Given the description of an element on the screen output the (x, y) to click on. 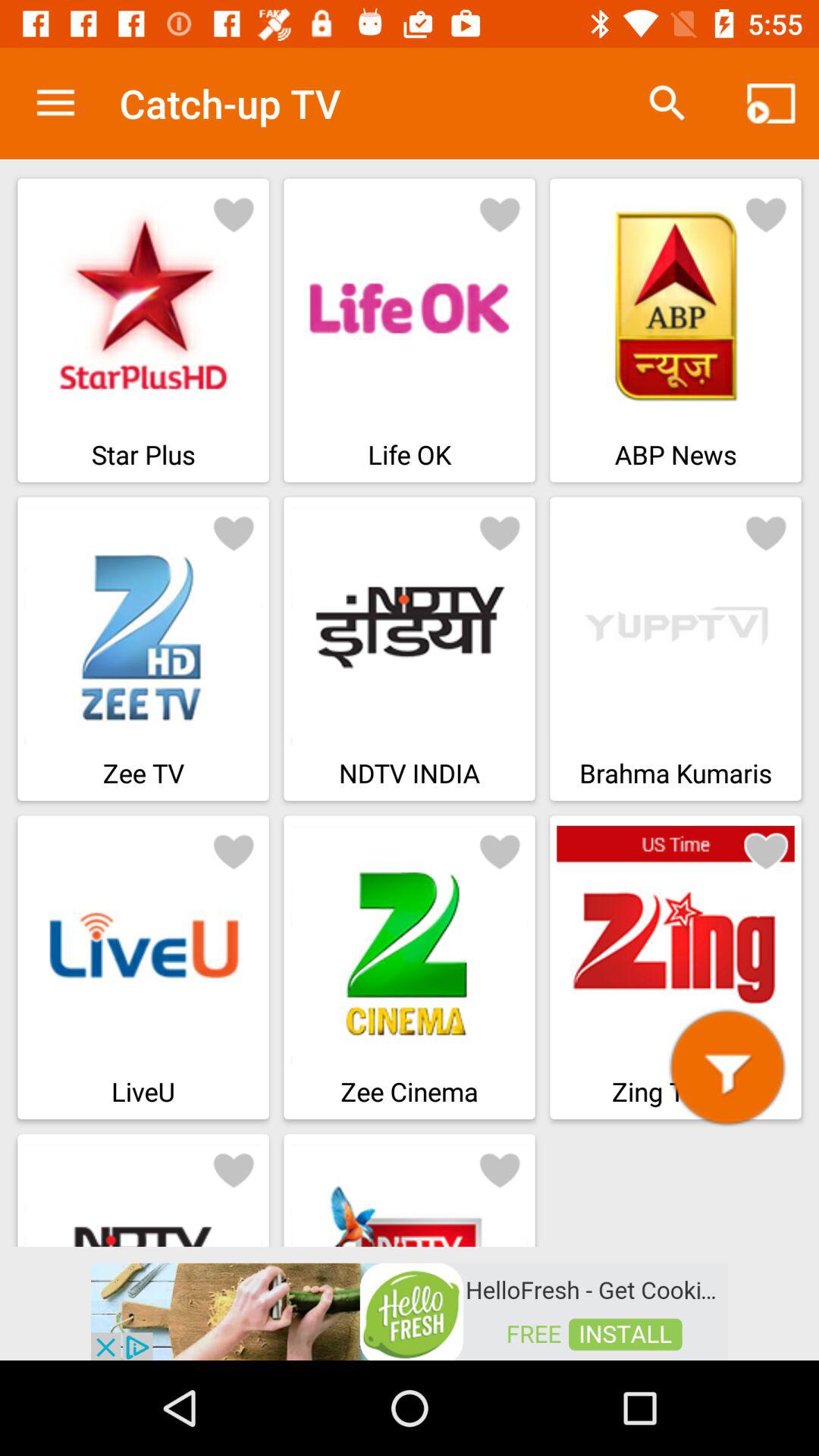
open advertisement (409, 1310)
